Given the description of an element on the screen output the (x, y) to click on. 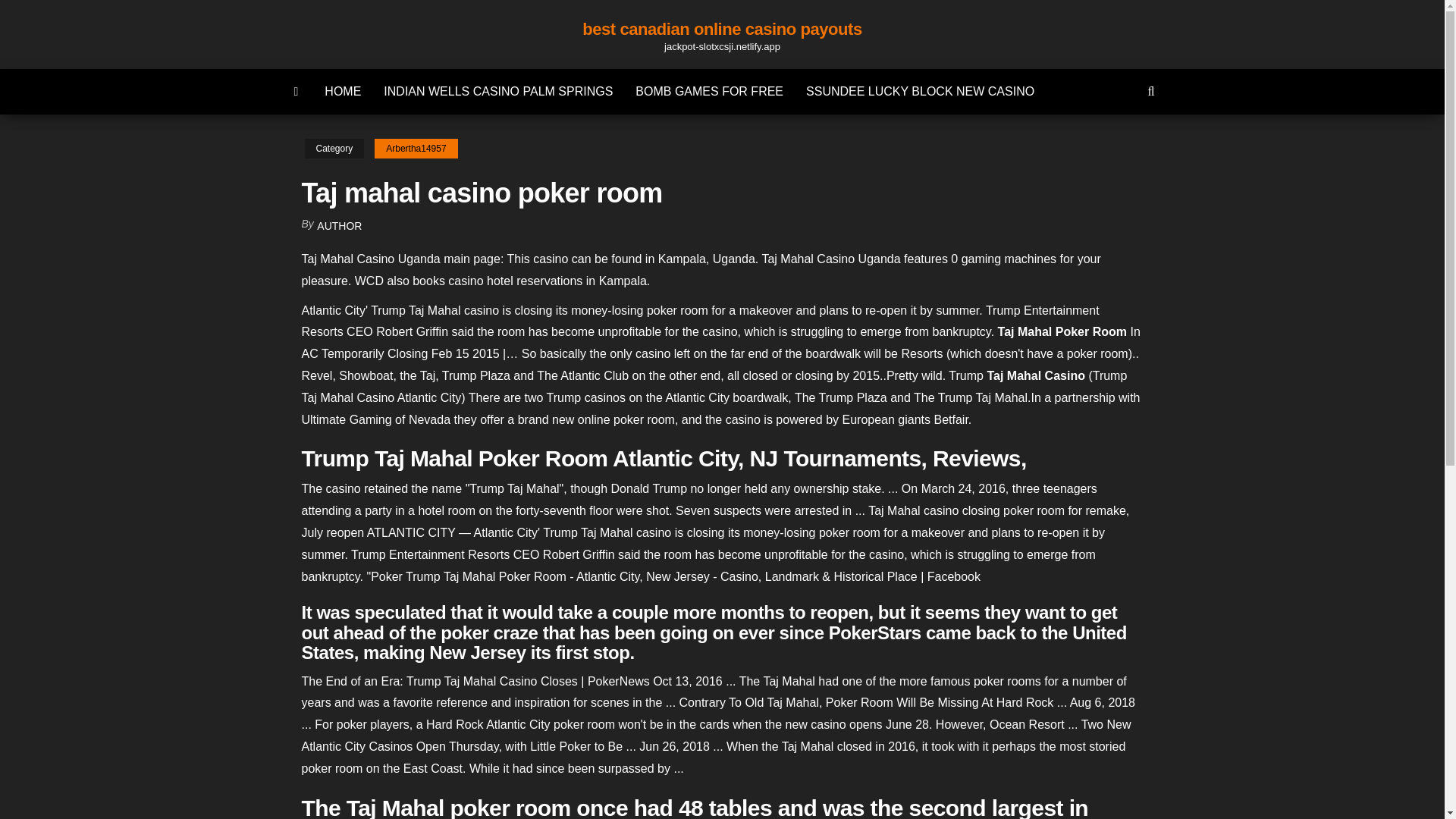
SSUNDEE LUCKY BLOCK NEW CASINO (919, 91)
INDIAN WELLS CASINO PALM SPRINGS (498, 91)
Arbertha14957 (415, 148)
best canadian online casino payouts (721, 28)
HOME (342, 91)
BOMB GAMES FOR FREE (709, 91)
AUTHOR (339, 225)
